Given the description of an element on the screen output the (x, y) to click on. 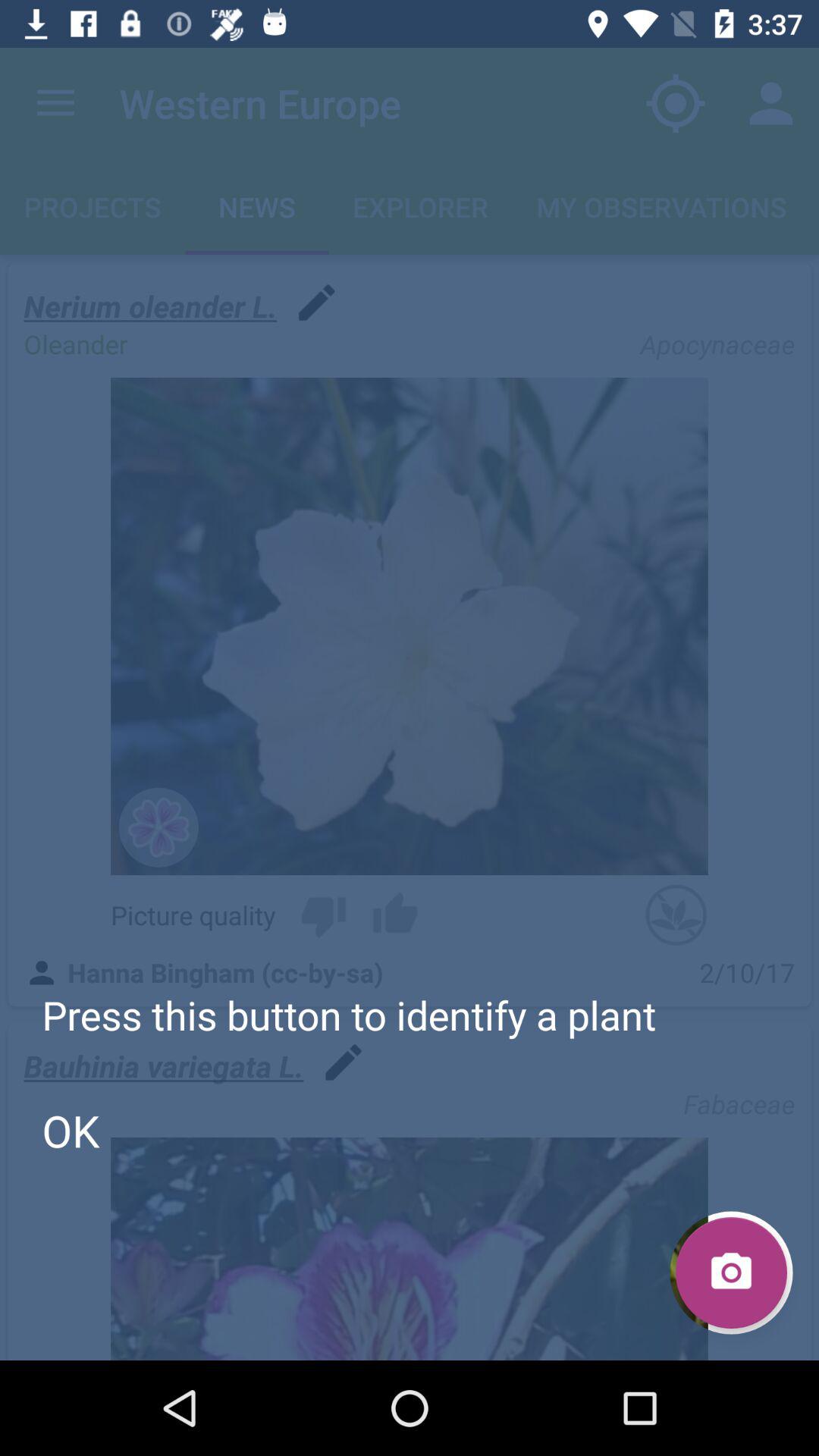
choose item above the projects (55, 103)
